Given the description of an element on the screen output the (x, y) to click on. 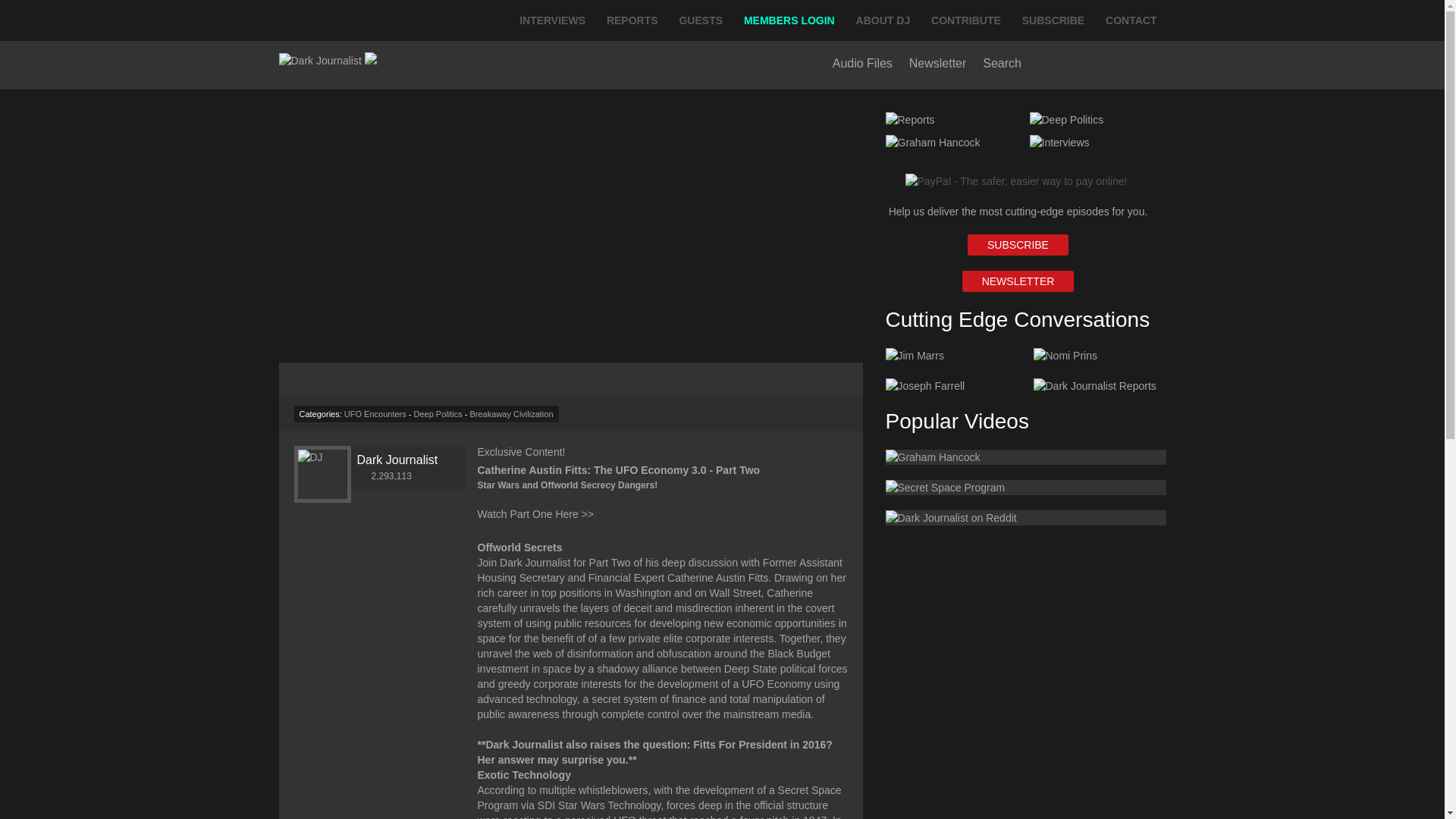
reddit (1158, 66)
Newsletter (937, 62)
Subscribe (1018, 244)
INTERVIEWS (552, 20)
2,293,113 (383, 475)
Breakaway Civilization (511, 413)
SUBSCRIBE (1053, 20)
Newsletter (1018, 281)
facebook (1041, 66)
youtube (1079, 66)
CONTACT (1131, 20)
Audio Files (862, 62)
twitter (1122, 66)
UFO Encounters (374, 413)
GUESTS (700, 20)
